Given the description of an element on the screen output the (x, y) to click on. 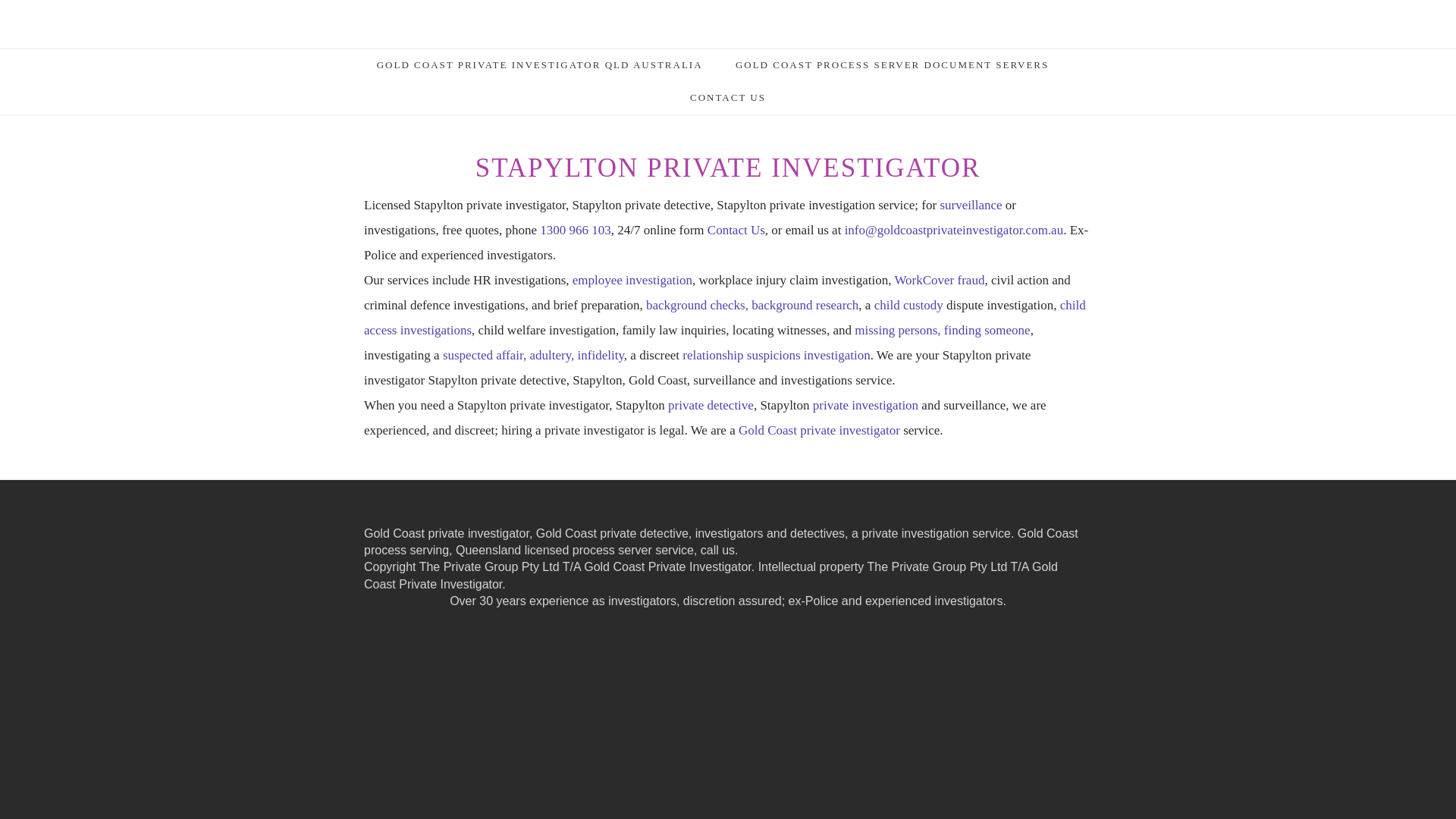
CONTACT US Element type: text (727, 102)
relationship suspicions investigation Element type: text (775, 355)
suspected affair, adultery, infidelity Element type: text (533, 355)
Contact Us Element type: text (736, 229)
GOLD COAST PRIVATE INVESTIGATOR QLD AUSTRALIA Element type: text (539, 70)
WorkCover fraud Element type: text (939, 280)
child custody Element type: text (908, 305)
background checks, background research Element type: text (752, 305)
GOLD COAST PROCESS SERVER DOCUMENT SERVERS Element type: text (891, 70)
child access investigations Element type: text (724, 317)
private investigation Element type: text (865, 405)
1300 966 103 Element type: text (575, 229)
info@goldcoastprivateinvestigator.com.au Element type: text (953, 229)
private detective Element type: text (710, 405)
surveillance Element type: text (970, 204)
employee investigation Element type: text (632, 280)
Gold Coast private investigator Element type: text (819, 430)
missing persons, finding someone Element type: text (941, 330)
